Given the description of an element on the screen output the (x, y) to click on. 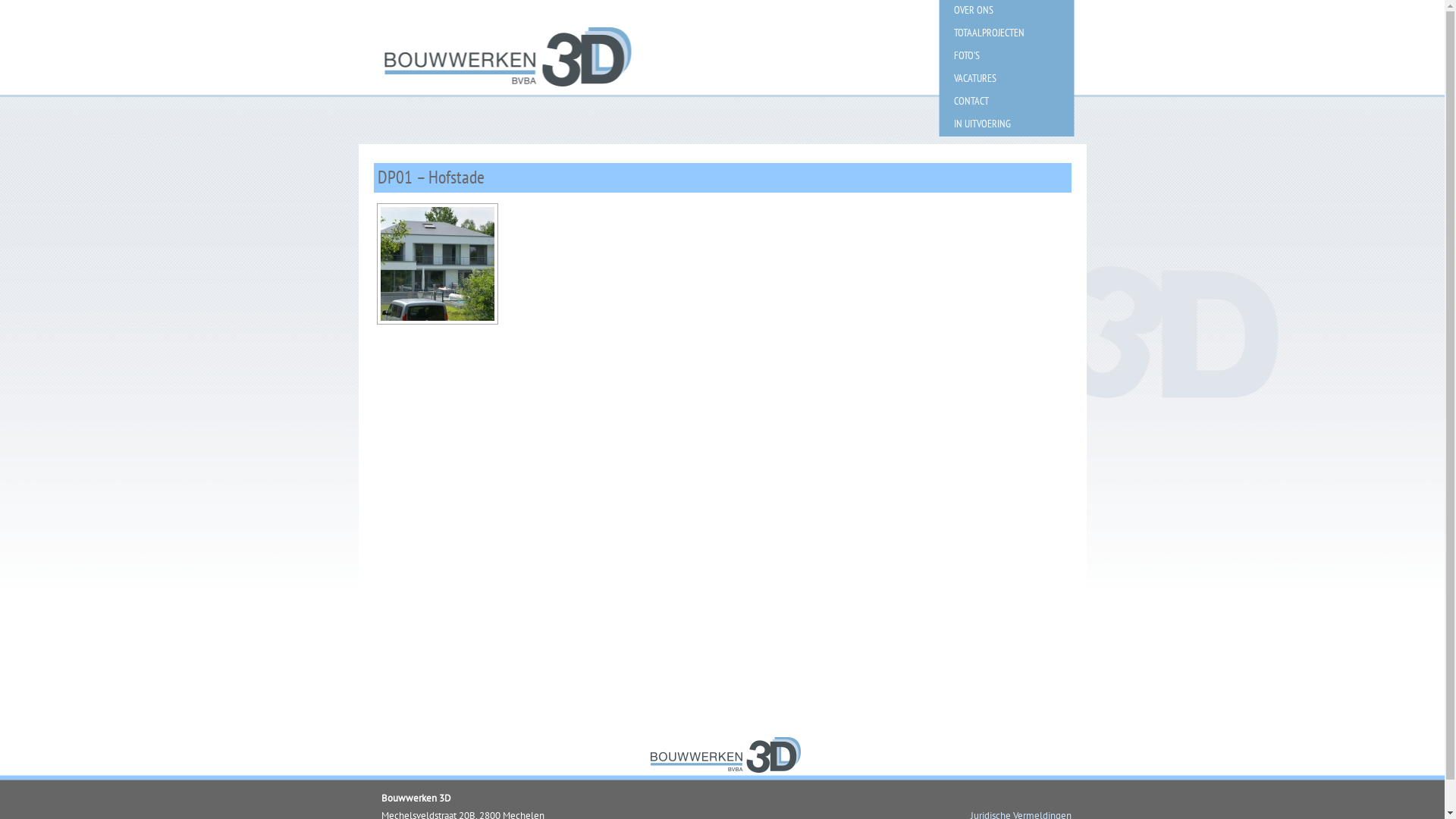
VACATURES Element type: text (974, 77)
TOTAALPROJECTEN Element type: text (988, 32)
CONTACT Element type: text (971, 100)
dp022-1024x706 Element type: hover (436, 263)
IN UITVOERING Element type: text (982, 123)
